Given the description of an element on the screen output the (x, y) to click on. 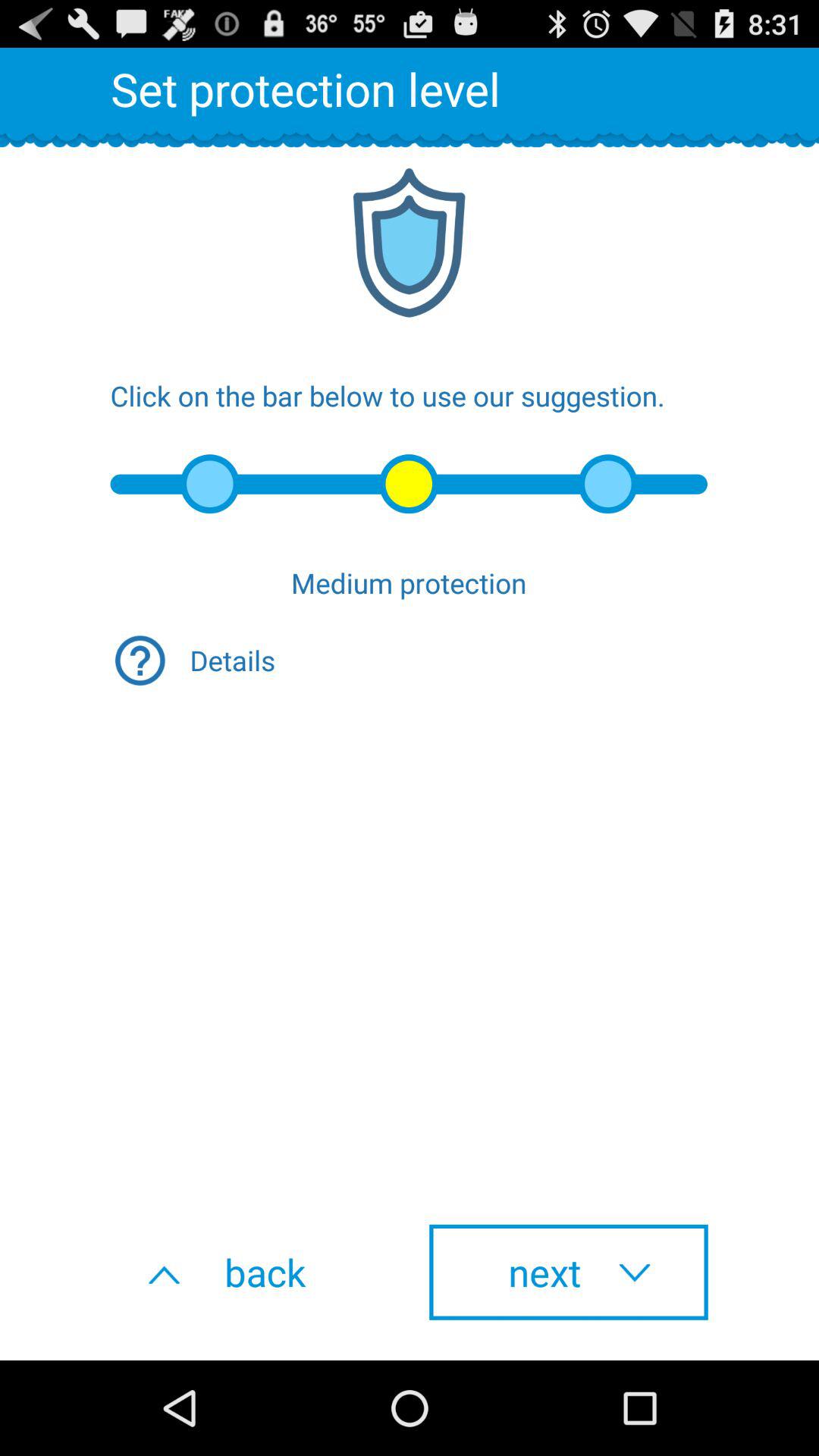
choose the back item (249, 1272)
